Given the description of an element on the screen output the (x, y) to click on. 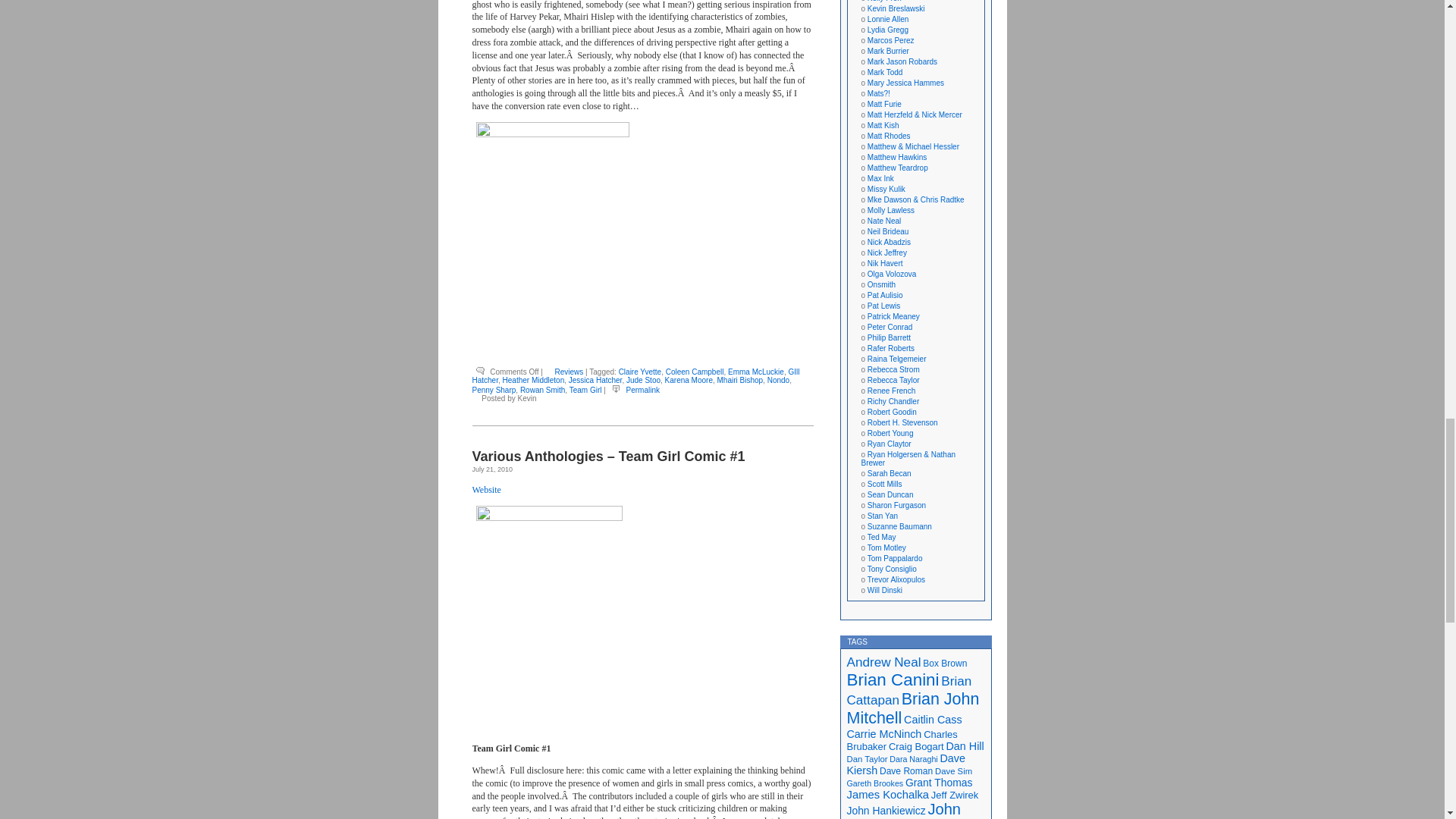
Mhairi Bishop (739, 379)
Claire Yvette (640, 371)
Coleen Campbell (694, 371)
Jude Stoo (643, 379)
Emma McLuckie (756, 371)
Karena Moore (689, 379)
GIll Hatcher (635, 375)
Jessica Hatcher (596, 379)
Heather Middleton (533, 379)
Reviews (568, 371)
